Given the description of an element on the screen output the (x, y) to click on. 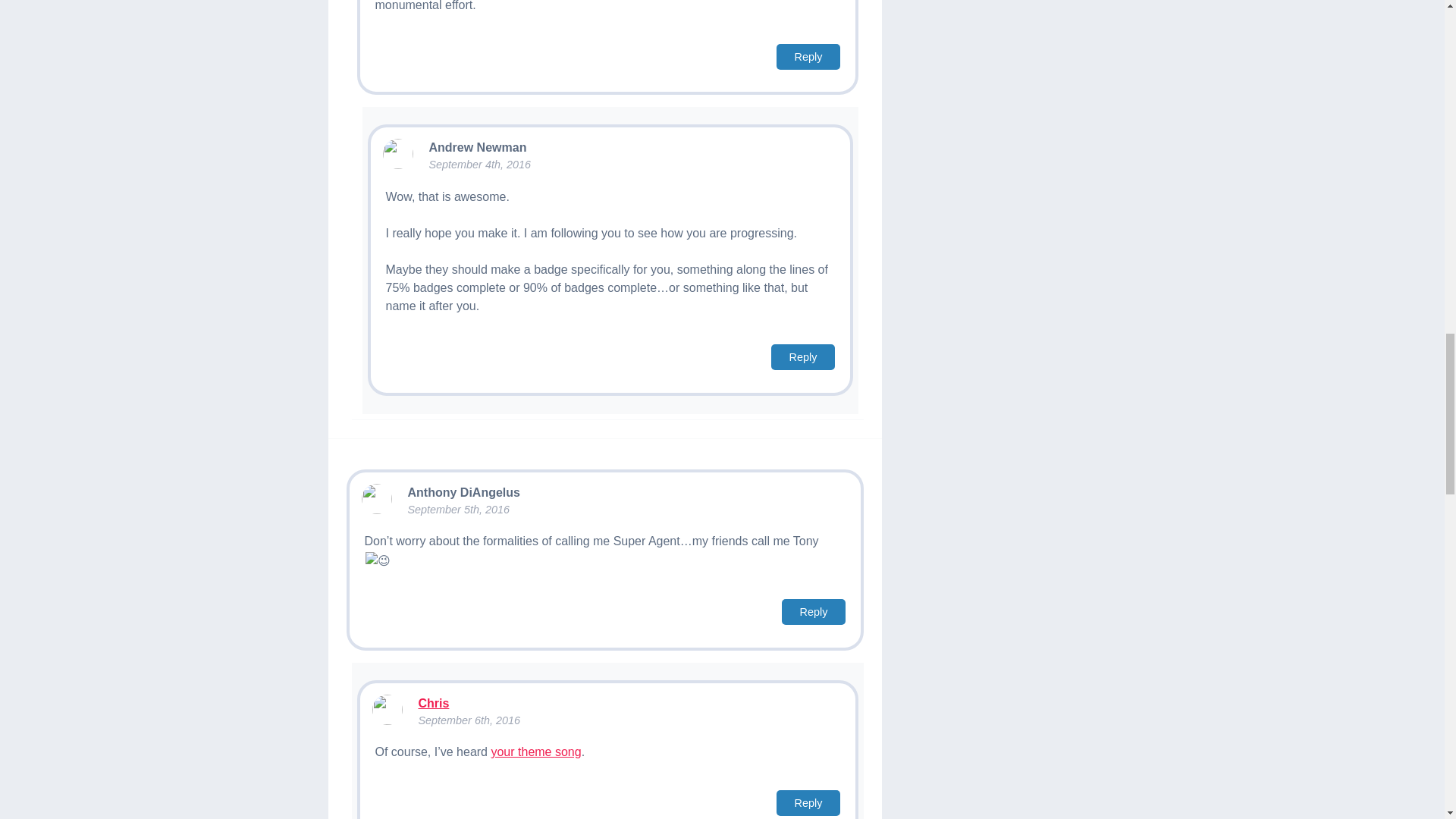
September 6th, 2016 (469, 720)
Chris (434, 703)
September 5th, 2016 (458, 509)
Reply (808, 802)
your theme song (535, 751)
Reply (808, 56)
Reply (813, 611)
September 4th, 2016 (480, 164)
Reply (803, 356)
